Given the description of an element on the screen output the (x, y) to click on. 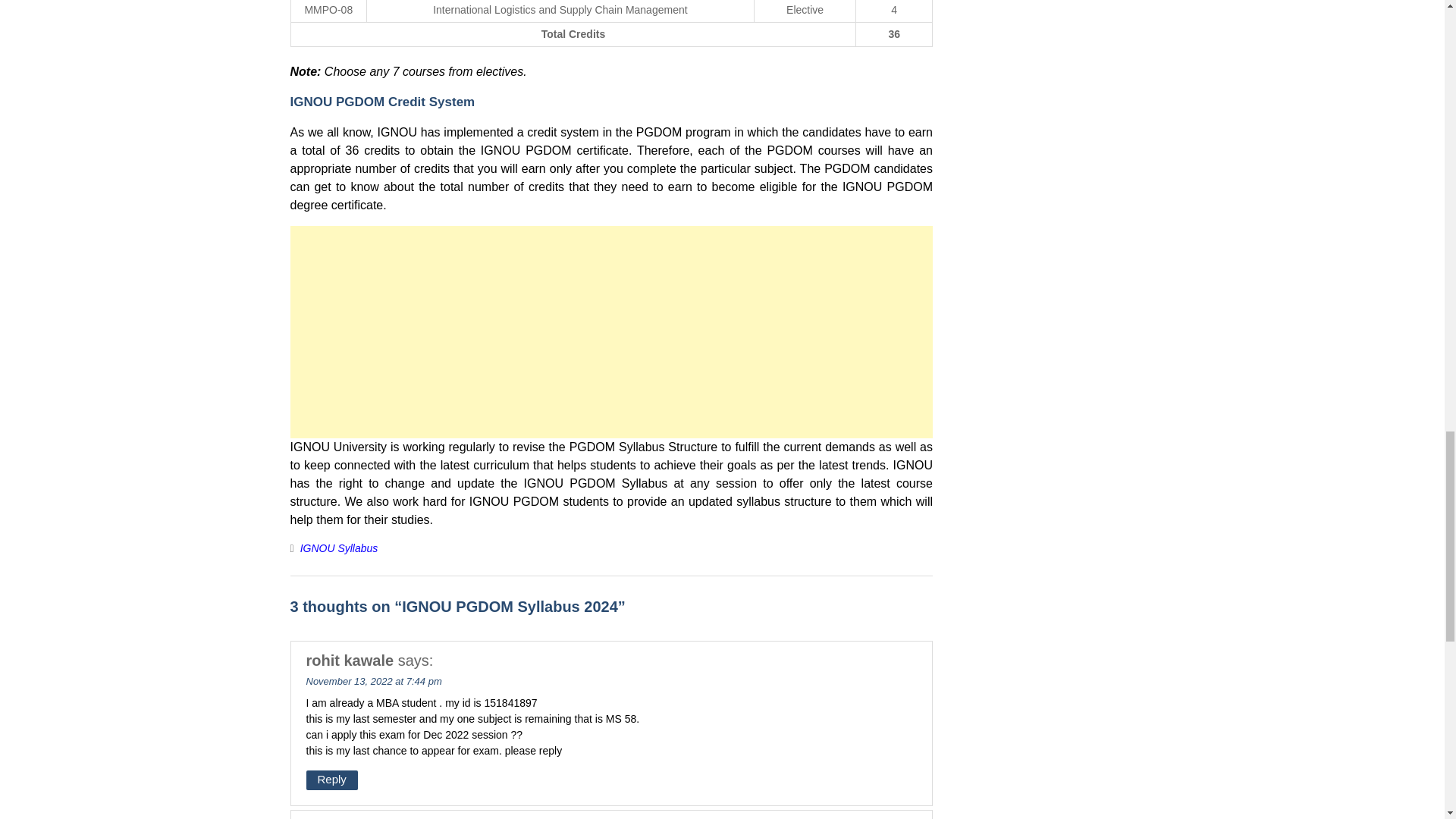
IGNOU Syllabus (338, 547)
Reply (331, 780)
November 13, 2022 at 7:44 pm (373, 680)
